Given the description of an element on the screen output the (x, y) to click on. 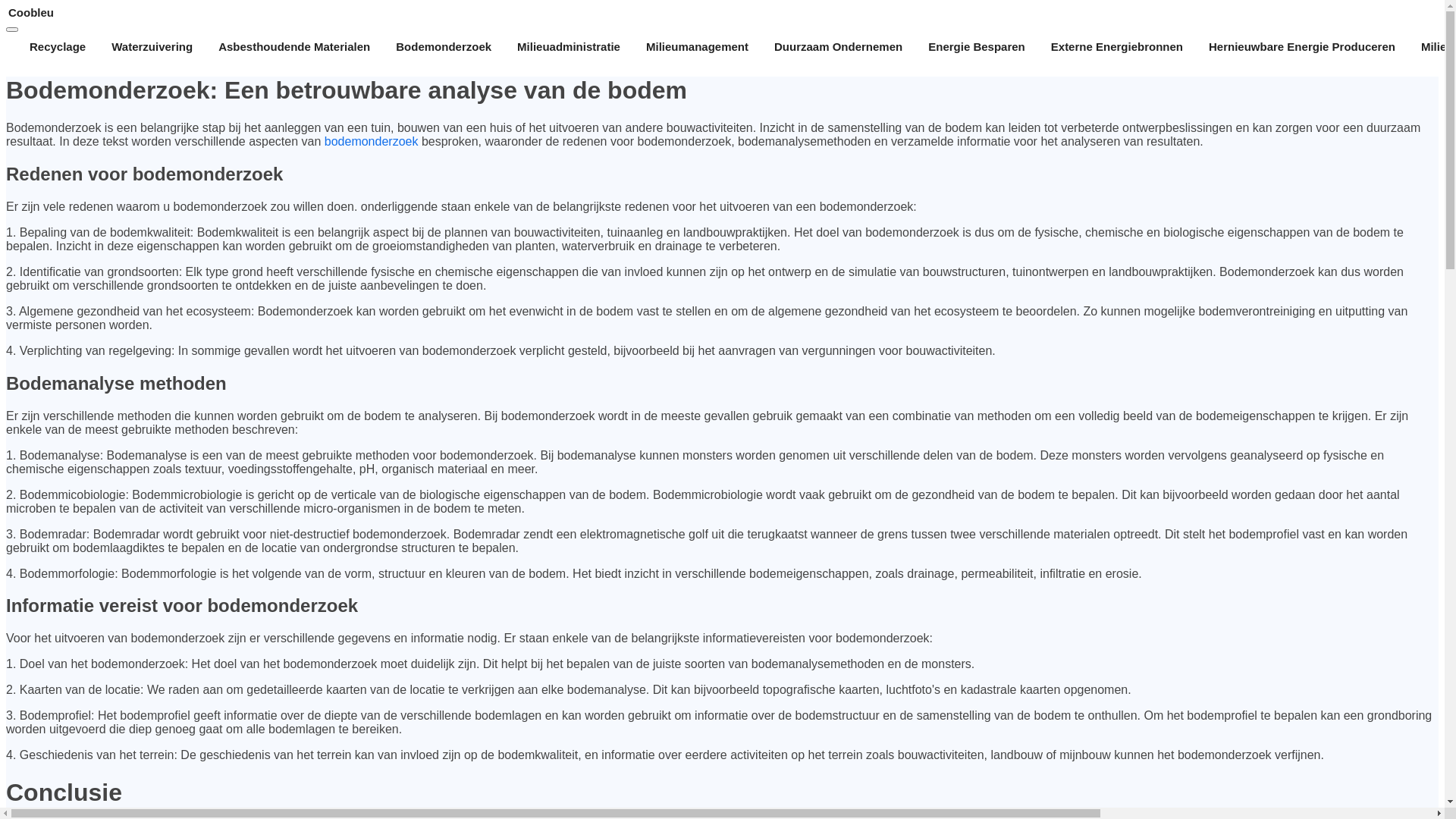
Hernieuwbare Energie Produceren Element type: text (1301, 46)
Bodemonderzoek Element type: text (443, 46)
Externe Energiebronnen Element type: text (1116, 46)
Milieumanagement Element type: text (696, 46)
Milieuadministratie Element type: text (568, 46)
Energie Besparen Element type: text (976, 46)
Asbesthoudende Materialen Element type: text (294, 46)
bodemonderzoek Element type: text (371, 140)
Coobleu Element type: text (722, 12)
Waterzuivering Element type: text (151, 46)
Recyclage Element type: text (57, 46)
Duurzaam Ondernemen Element type: text (837, 46)
